Given the description of an element on the screen output the (x, y) to click on. 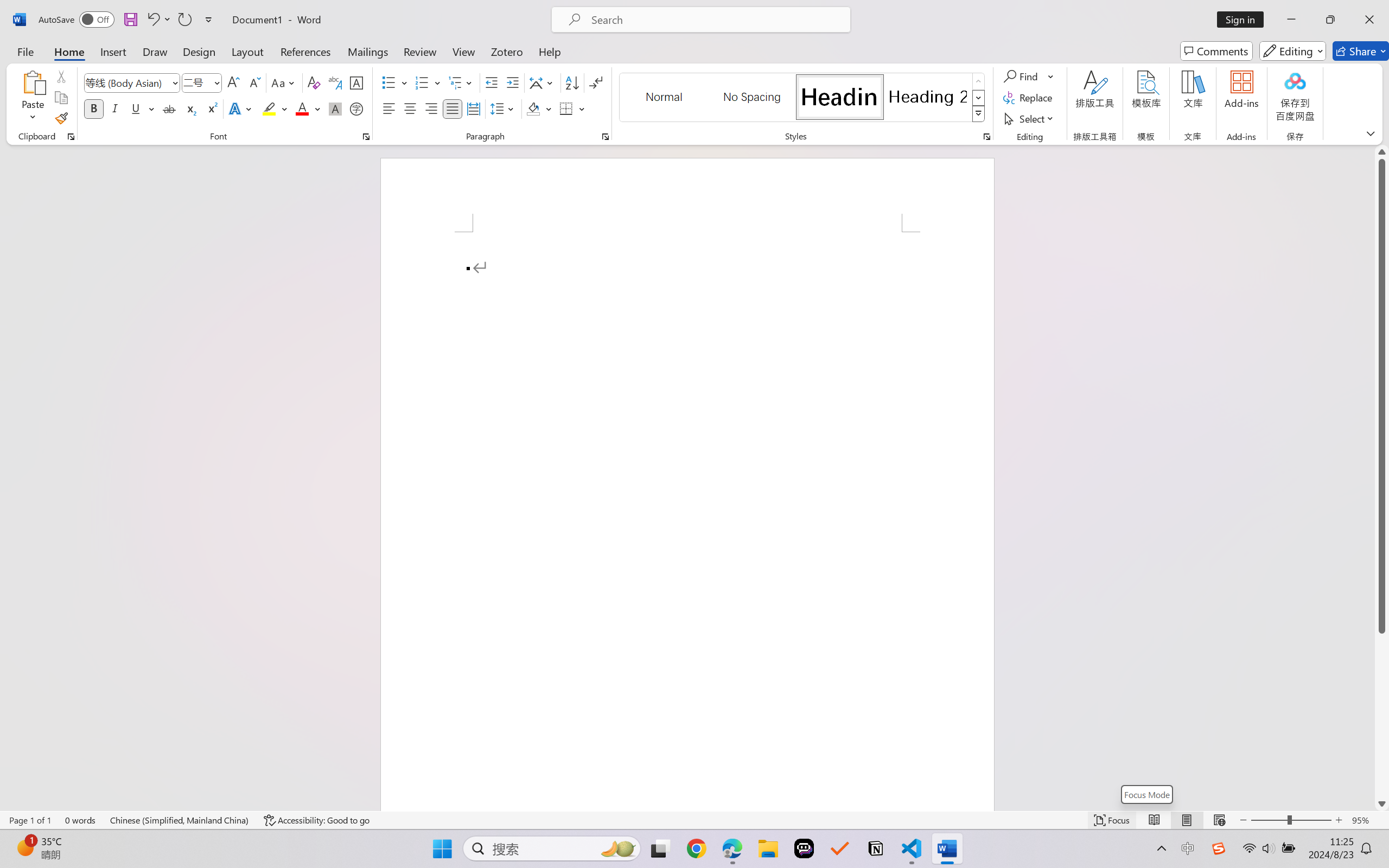
Undo Apply Quick Style (158, 19)
Undo Apply Quick Style (152, 19)
